Given the description of an element on the screen output the (x, y) to click on. 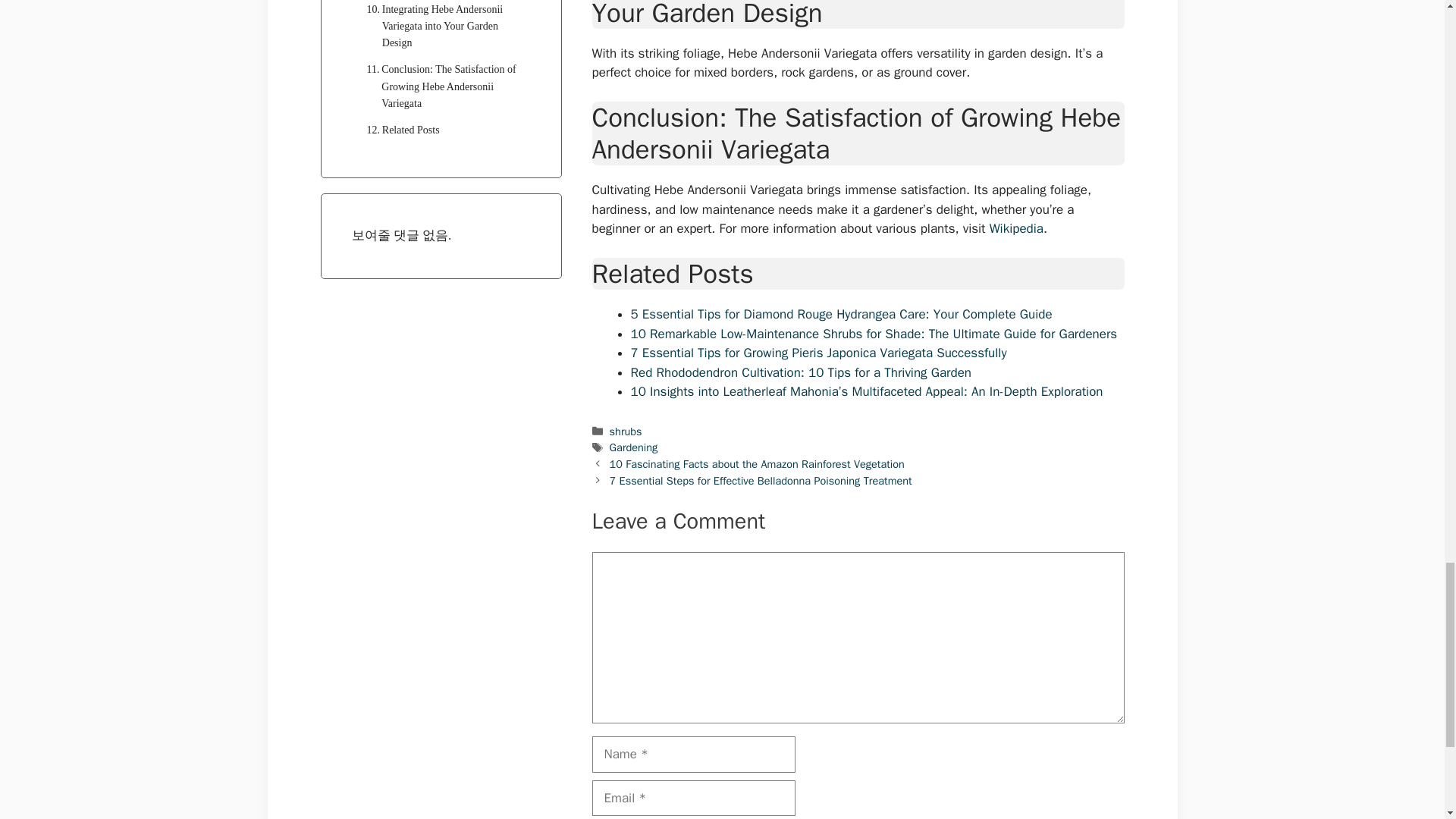
Red Rhododendron Cultivation: 10 Tips for a Thriving Garden (801, 372)
shrubs (626, 431)
Wikipedia (1016, 228)
10 Fascinating Facts about the Amazon Rainforest Vegetation (757, 463)
Gardening (634, 447)
